Given the description of an element on the screen output the (x, y) to click on. 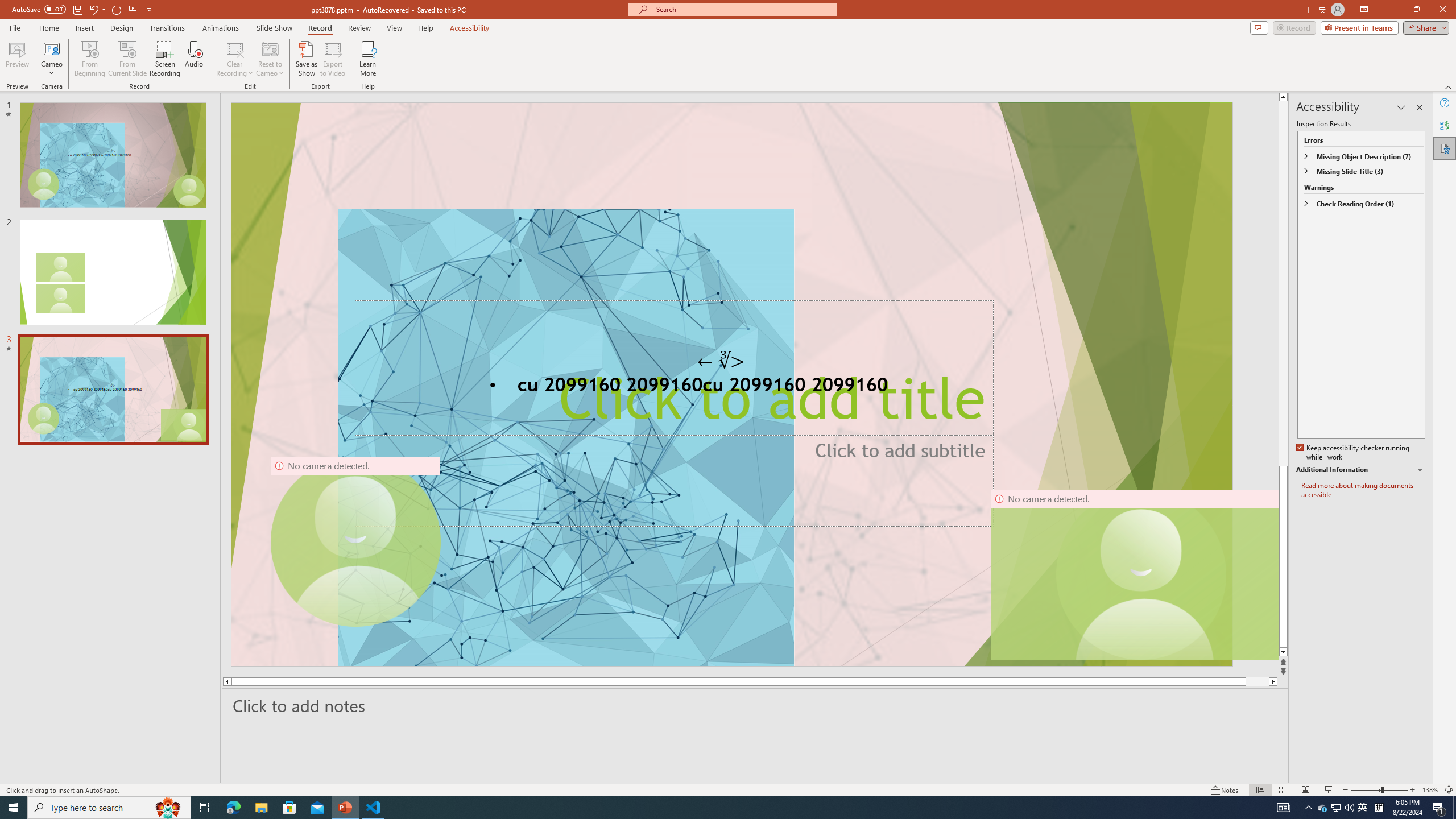
Additional Information (1360, 469)
An abstract genetic concept (731, 384)
Keep accessibility checker running while I work (1353, 452)
Read more about making documents accessible (1363, 489)
